Given the description of an element on the screen output the (x, y) to click on. 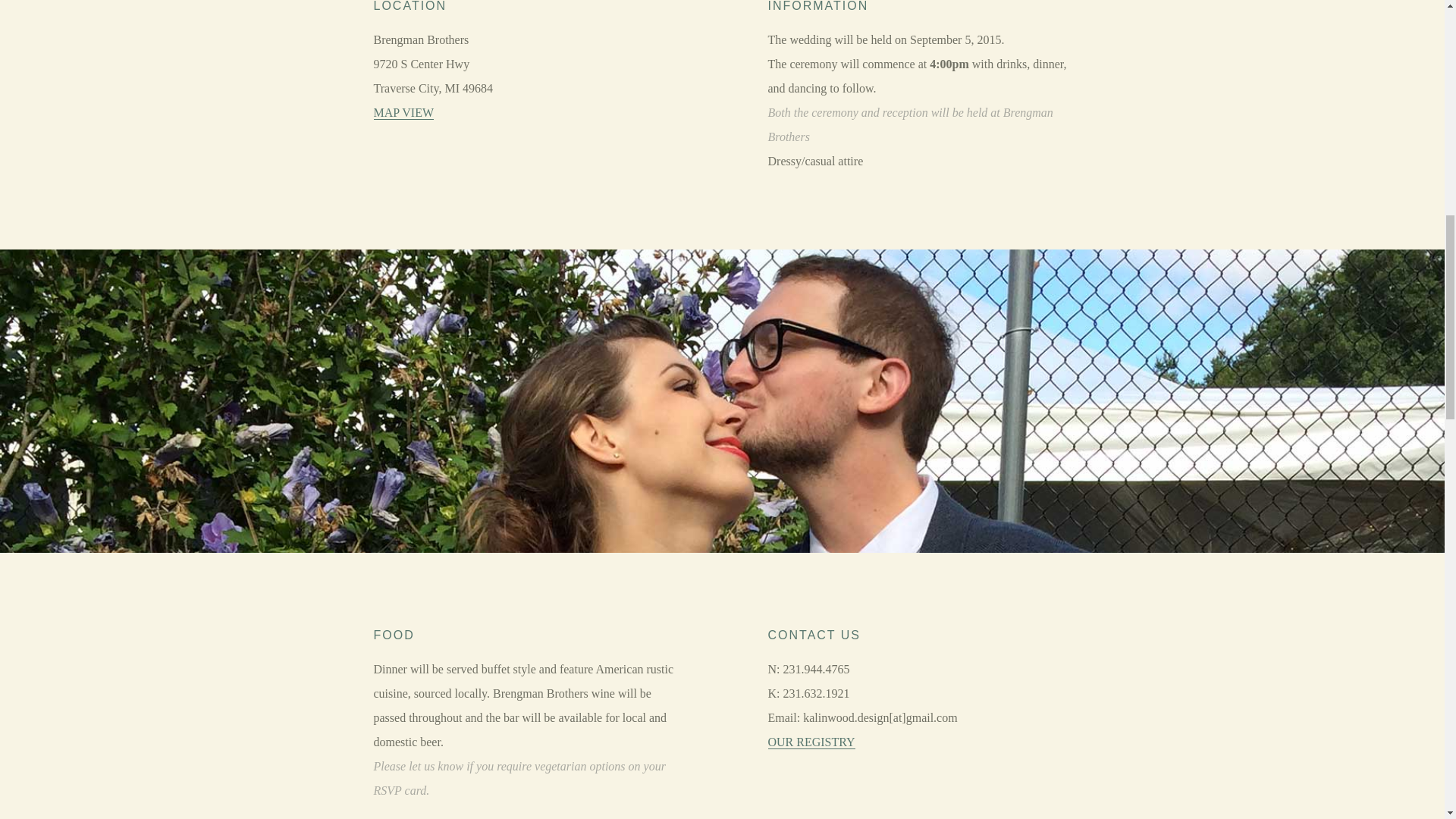
MAP VIEW (402, 112)
OUR REGISTRY (810, 742)
